Given the description of an element on the screen output the (x, y) to click on. 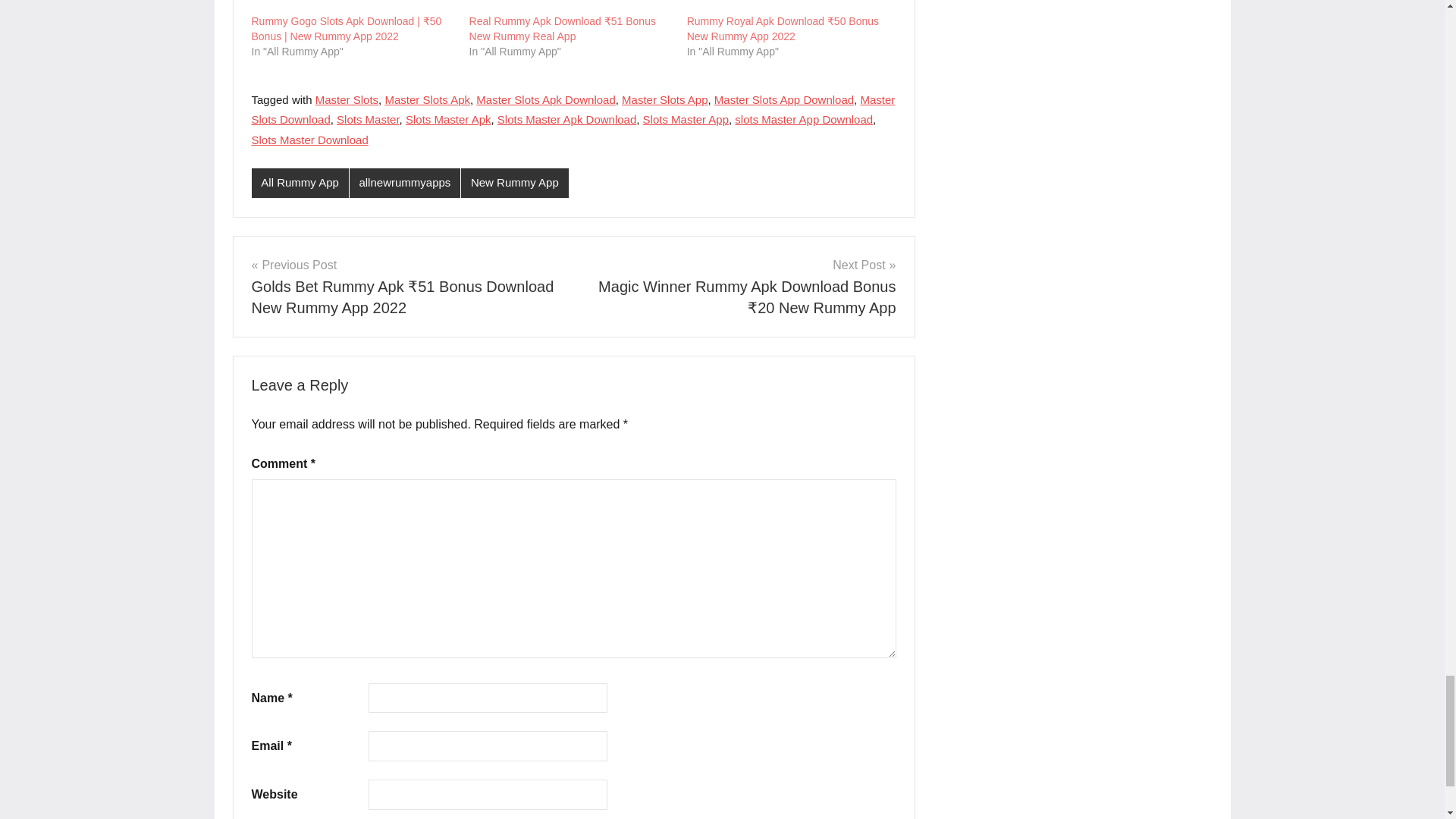
Master Slots Apk (427, 99)
slots Master App Download (803, 119)
Master Slots Apk Download (545, 99)
Slots Master Apk (449, 119)
Master Slots App (664, 99)
Slots Master App (686, 119)
Master Slots Download (573, 109)
Master Slots App Download (783, 99)
Slots Master (367, 119)
Slots Master Apk Download (566, 119)
